Given the description of an element on the screen output the (x, y) to click on. 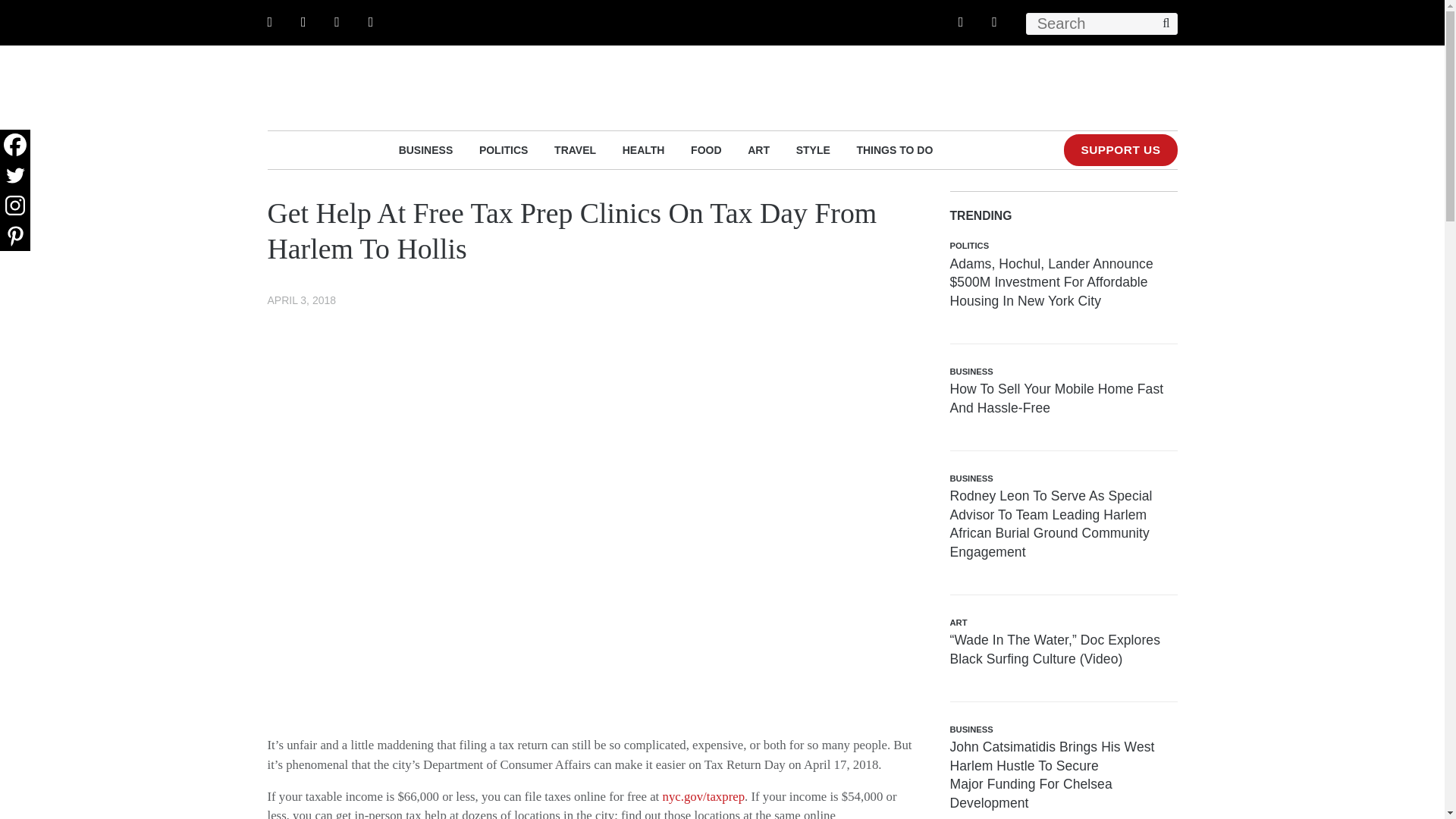
STYLE (812, 149)
Facebook (15, 144)
POLITICS (503, 149)
Pinterest (15, 235)
SUPPORT US (1120, 150)
Instagram (15, 205)
BUSINESS (425, 149)
THINGS TO DO (894, 149)
HEALTH (644, 149)
TRAVEL (574, 149)
Twitter (15, 174)
